Given the description of an element on the screen output the (x, y) to click on. 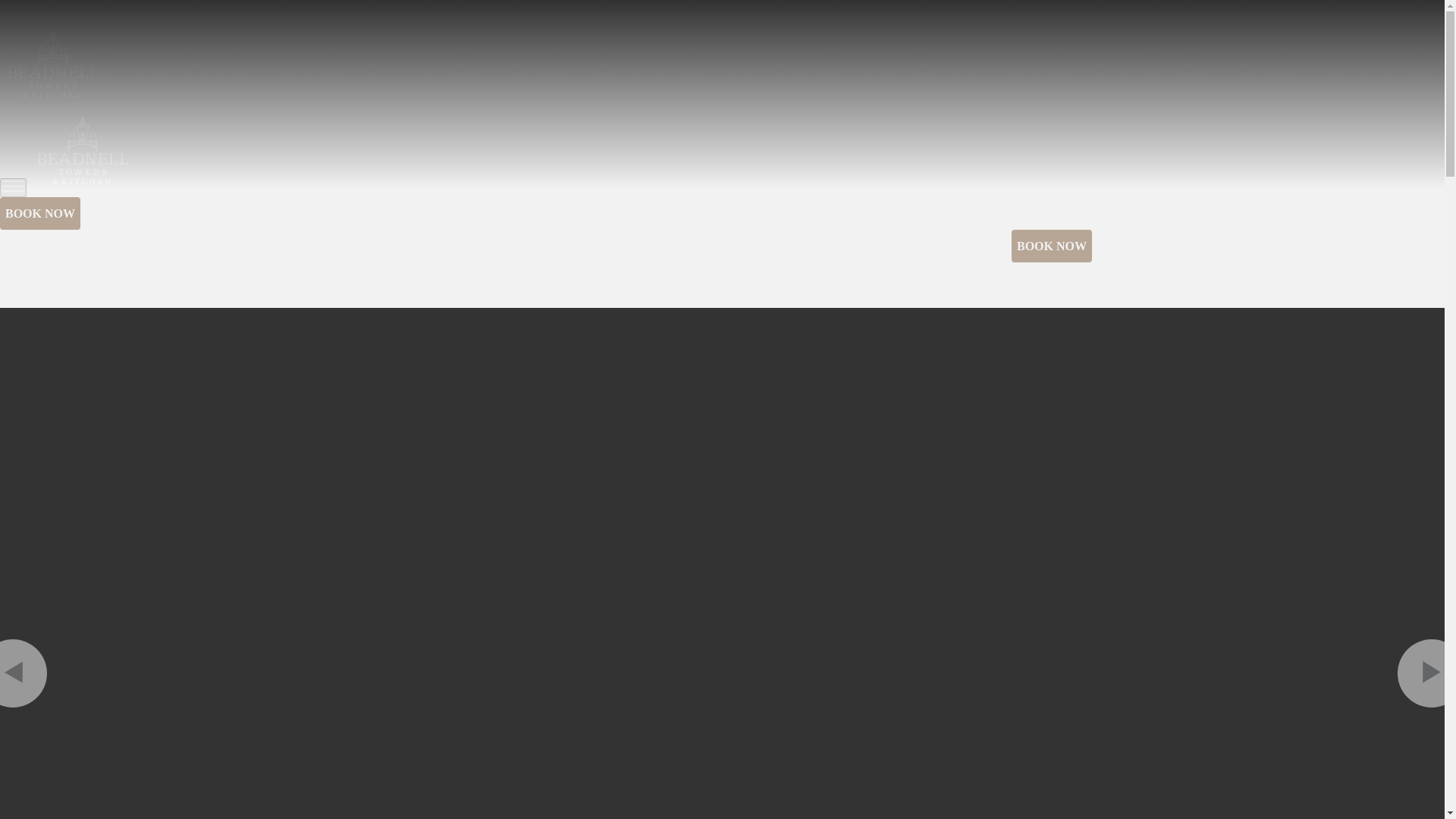
ROOMS (529, 243)
BOOK NOW (1051, 246)
PACKAGES (722, 243)
HOME (466, 243)
CONTACT US (963, 243)
BOOK NOW (40, 213)
